Given the description of an element on the screen output the (x, y) to click on. 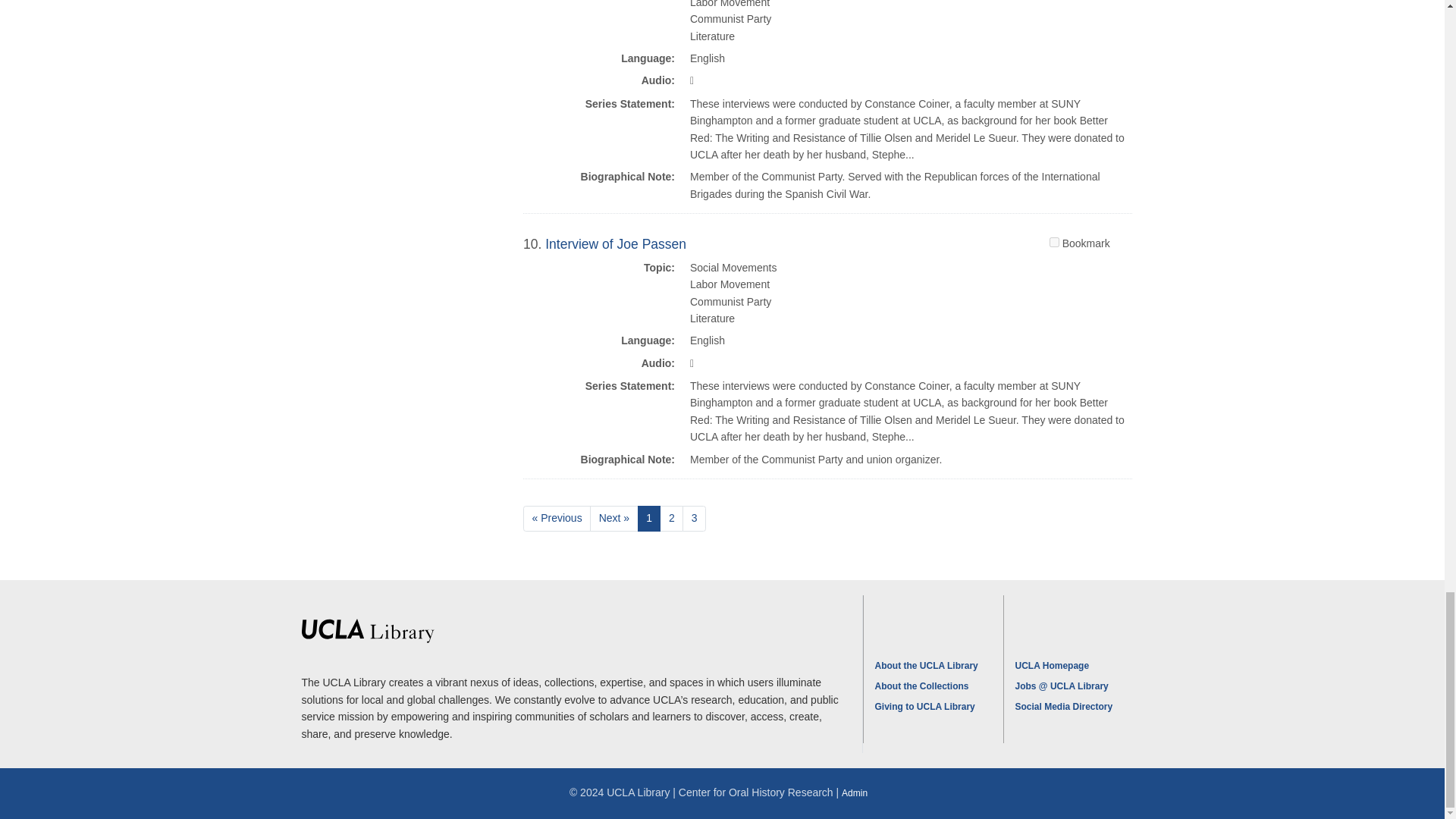
on (1054, 242)
